Given the description of an element on the screen output the (x, y) to click on. 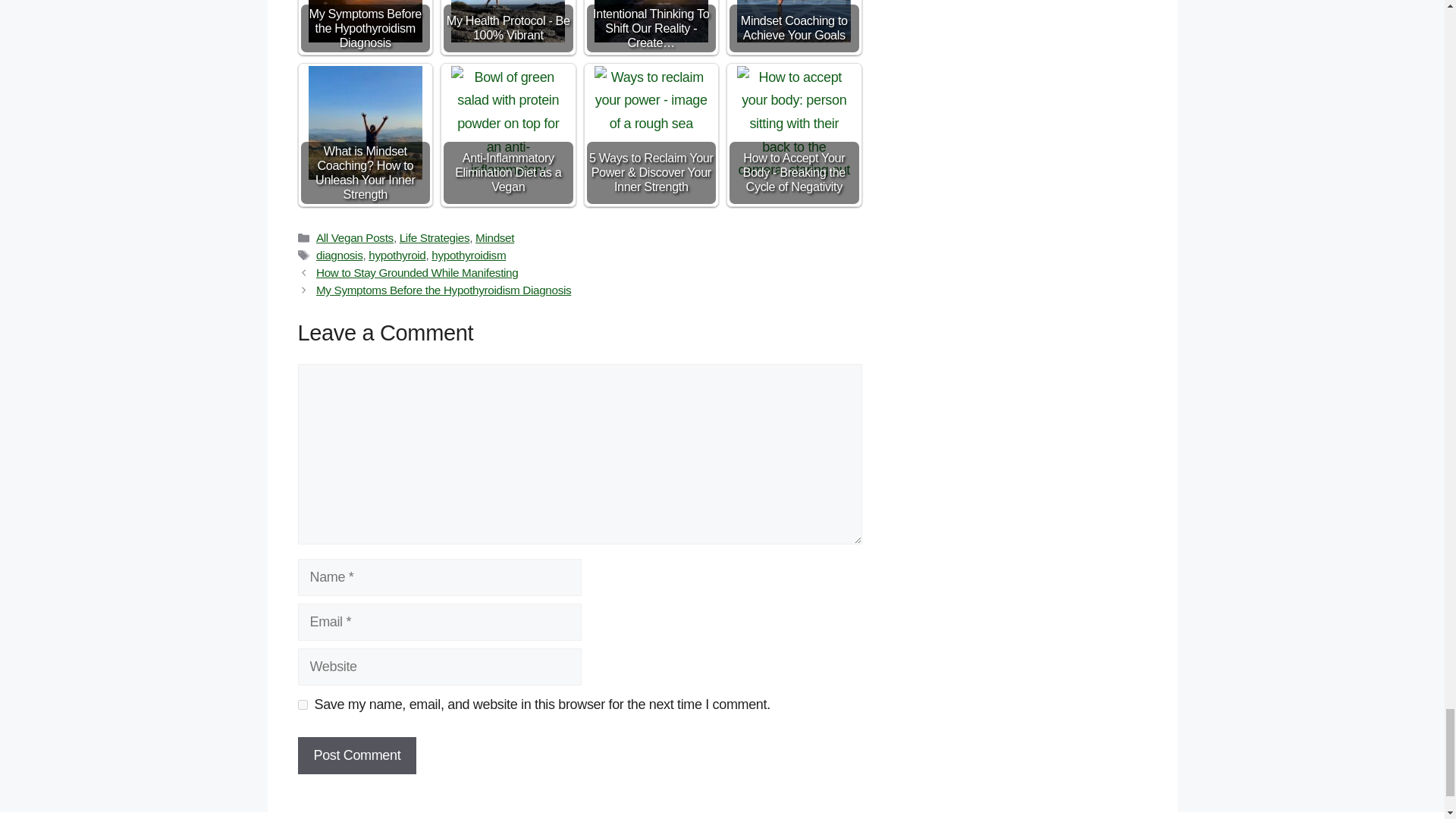
Anti-Inflammatory Elimination Diet as a Vegan (507, 122)
Post Comment (356, 755)
yes (302, 705)
How to Accept Your Body - Breaking the Cycle of Negativity (793, 122)
Mindset Coaching to Achieve Your Goals (793, 21)
My Symptoms Before the Hypothyroidism Diagnosis (365, 21)
What is Mindset Coaching? How to Unleash Your Inner Strength (365, 122)
